Given the description of an element on the screen output the (x, y) to click on. 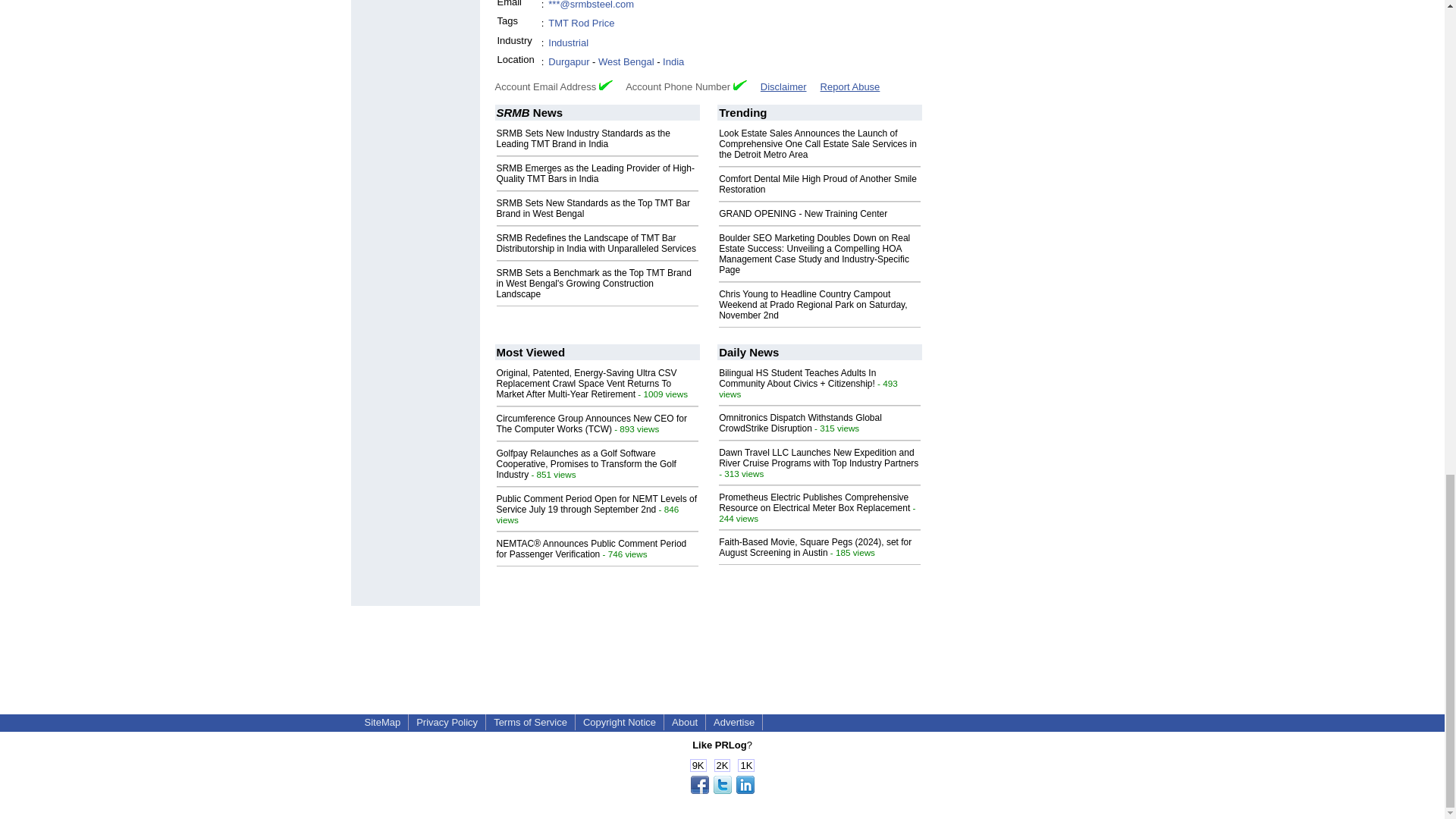
Verified (739, 85)
Share this page! (722, 790)
Verified (605, 85)
